Given the description of an element on the screen output the (x, y) to click on. 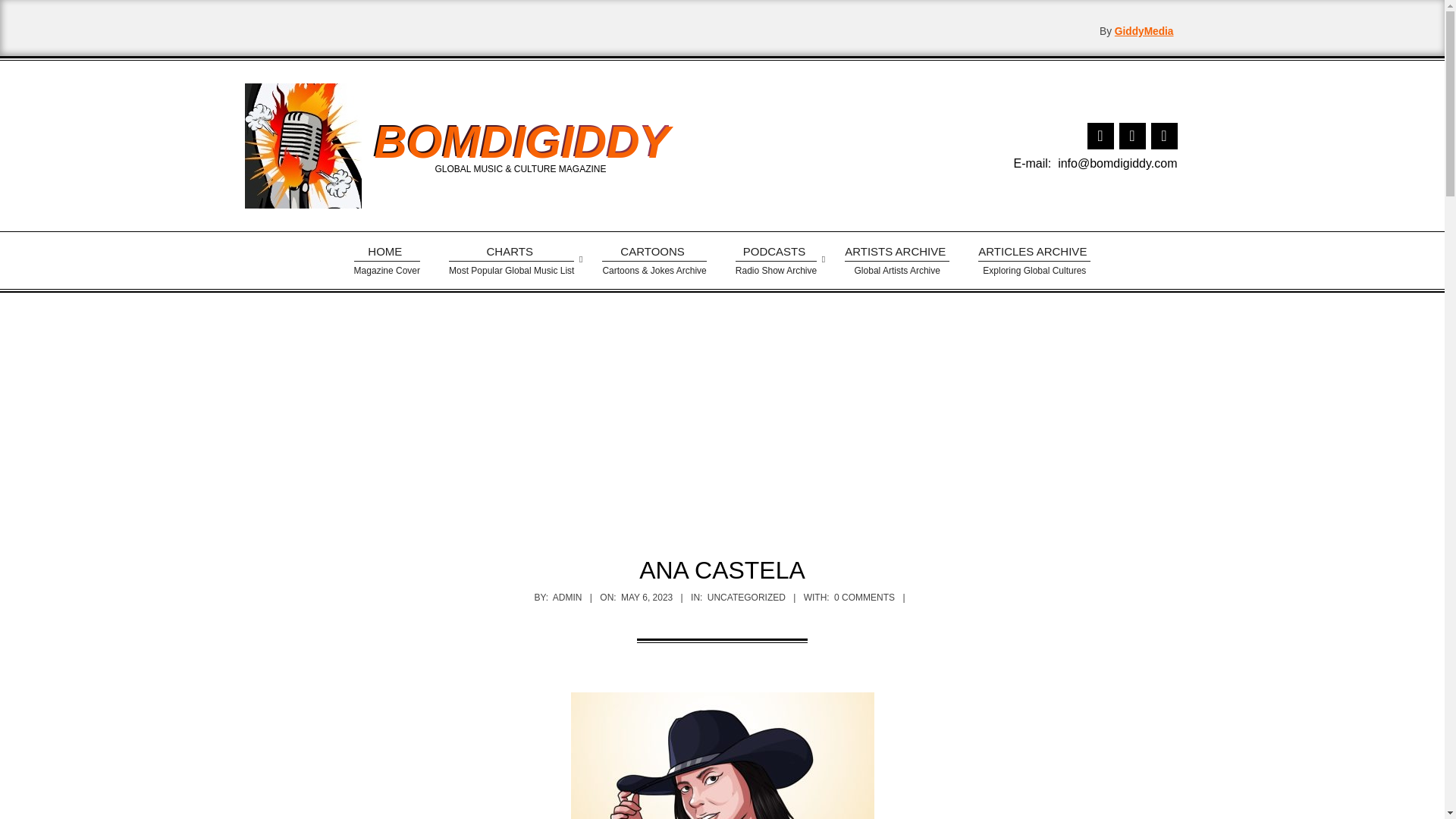
Posts by admin (774, 260)
BOMDIGIDDY (567, 597)
Advertisement (520, 140)
ADMIN (746, 597)
Saturday, May 6, 2023, 11:25 am (510, 260)
0 COMMENTS (386, 260)
GiddyMedia (567, 597)
